Given the description of an element on the screen output the (x, y) to click on. 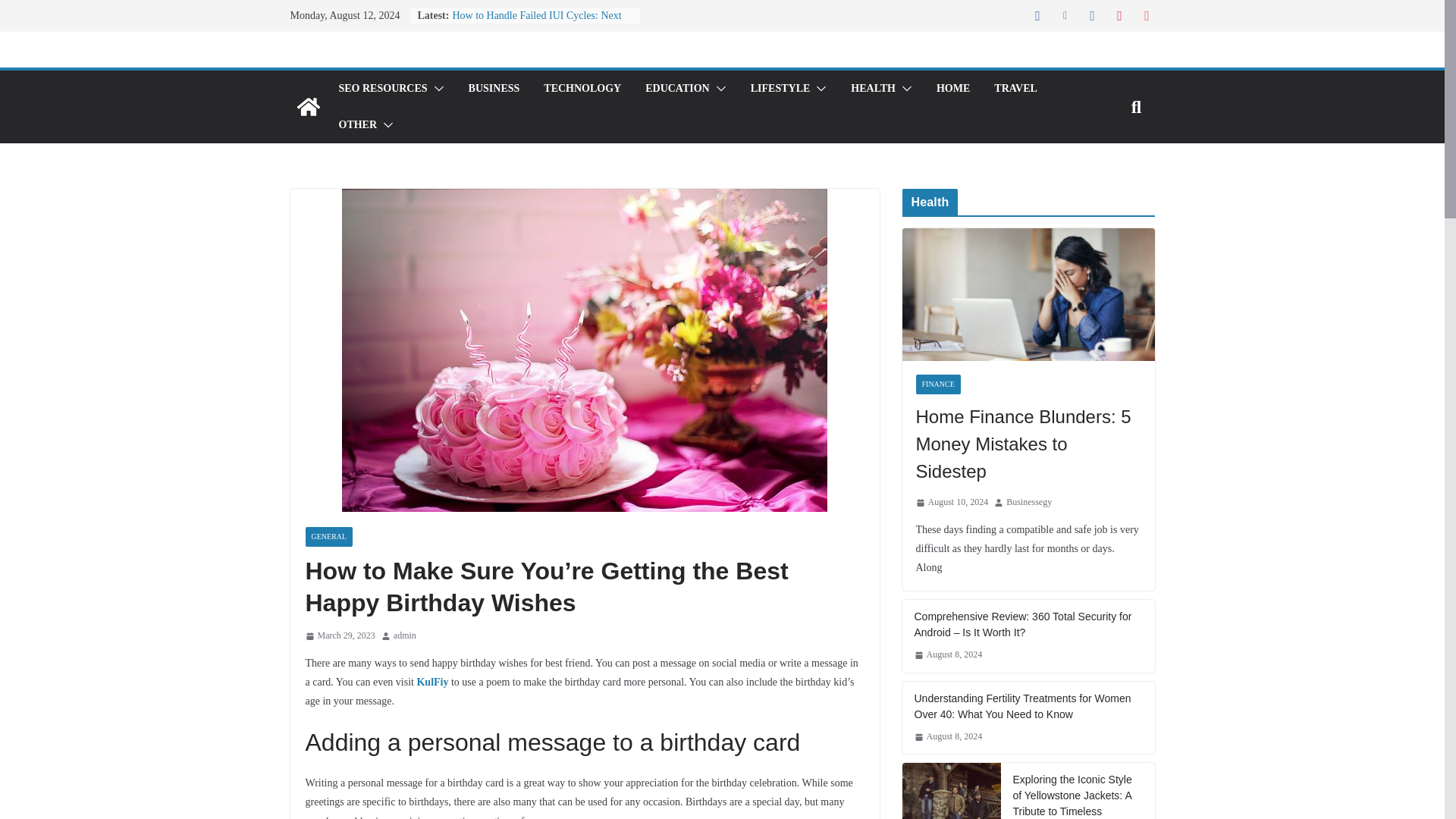
KulFiy (432, 681)
HEALTH (872, 88)
11:46 am (339, 636)
BUSINESS (493, 88)
admin (404, 636)
EDUCATION (677, 88)
TRAVEL (1015, 88)
SEO RESOURCES (381, 88)
OTHER (357, 124)
